Given the description of an element on the screen output the (x, y) to click on. 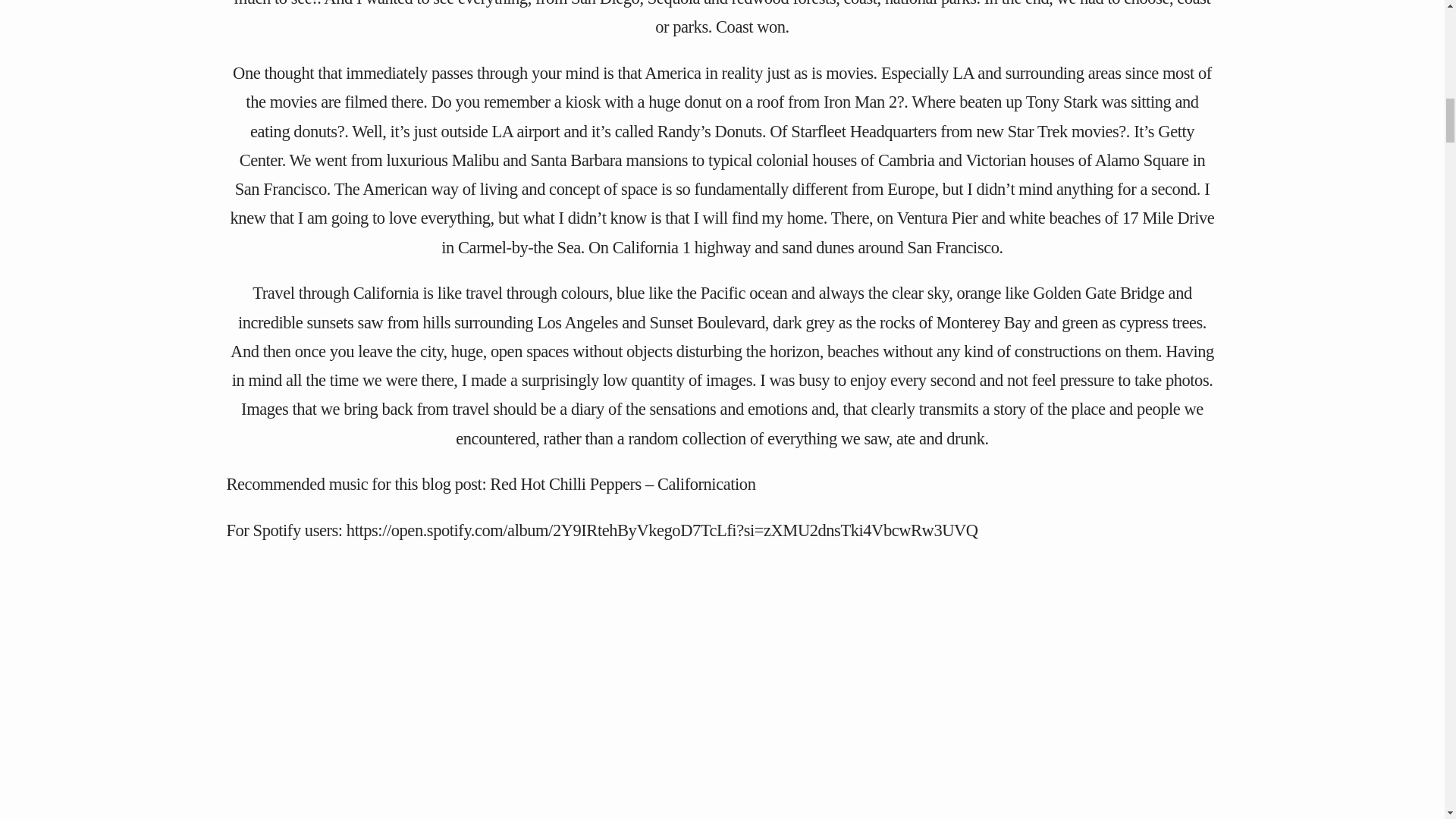
17 Mile Drive (1166, 217)
redwood (760, 3)
Getty Center (716, 144)
Sequoia (673, 3)
